Given the description of an element on the screen output the (x, y) to click on. 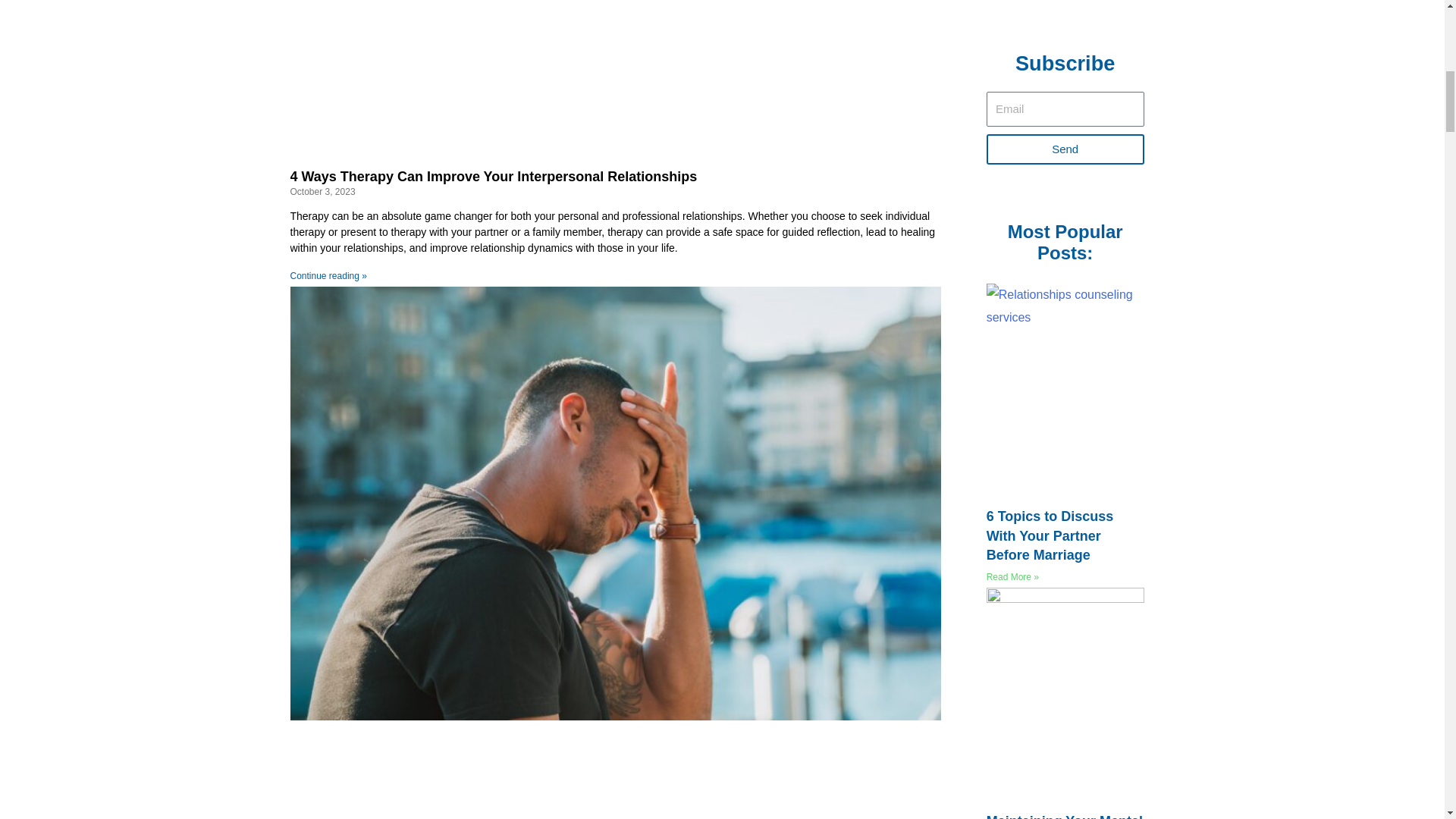
4 Ways Therapy Can Improve Your Interpersonal Relationships (493, 176)
